Given the description of an element on the screen output the (x, y) to click on. 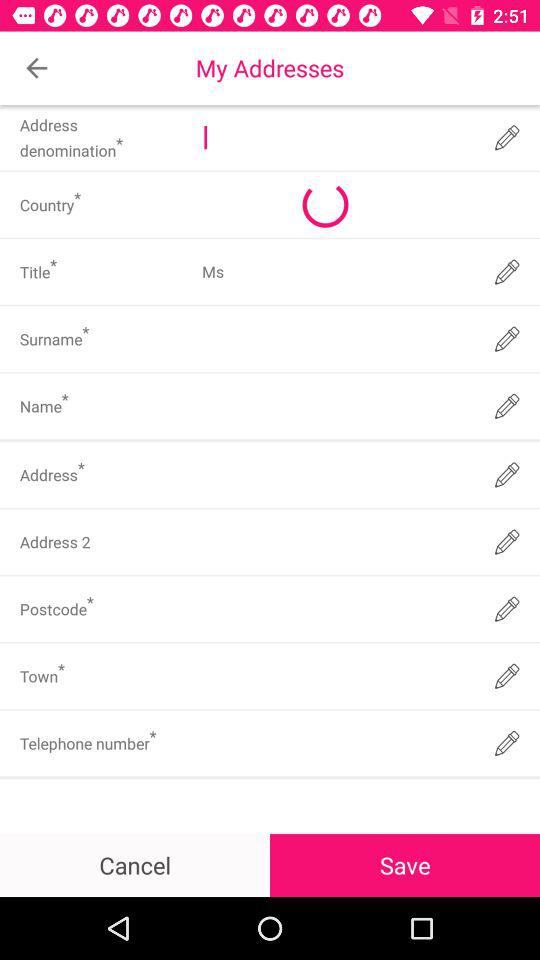
select icon next to cancel item (405, 864)
